Given the description of an element on the screen output the (x, y) to click on. 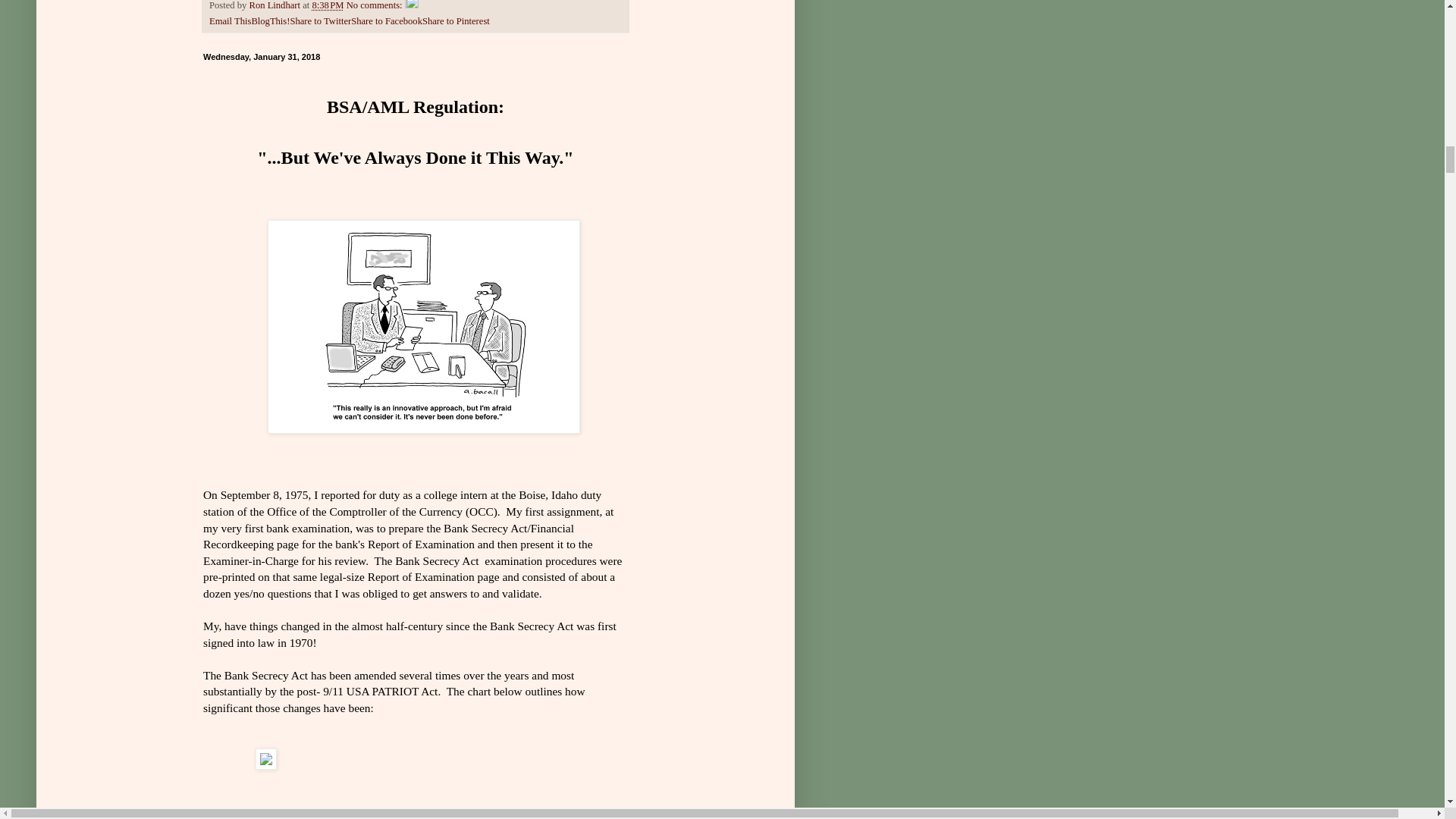
author profile (275, 5)
permanent link (327, 5)
Share to Facebook (386, 20)
Email This (229, 20)
BlogThis! (269, 20)
Share to Pinterest (455, 20)
No comments: (375, 5)
Ron Lindhart (275, 5)
Share to Twitter (319, 20)
Email This (229, 20)
Share to Twitter (319, 20)
BlogThis! (269, 20)
Edit Post (411, 5)
Share to Facebook (386, 20)
